Given the description of an element on the screen output the (x, y) to click on. 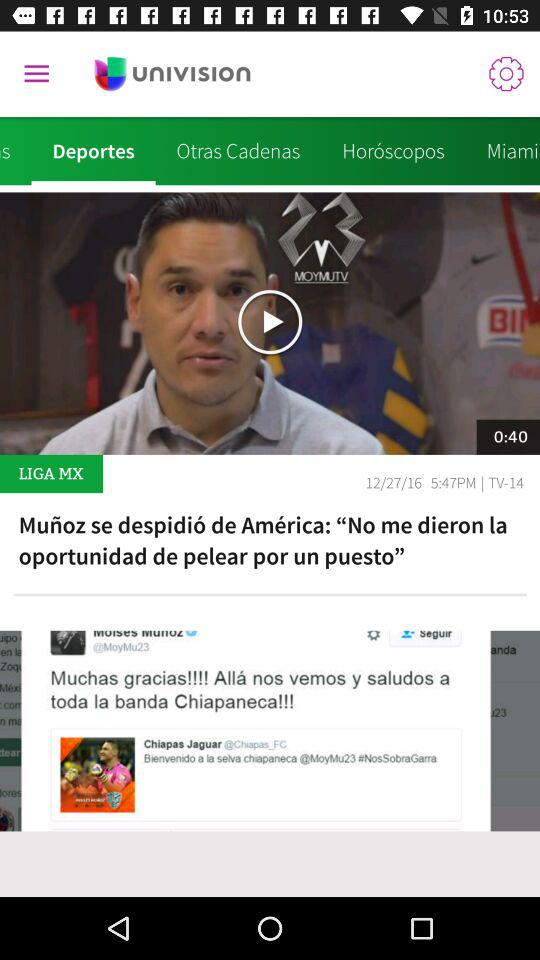
flip until the noticias (15, 151)
